Given the description of an element on the screen output the (x, y) to click on. 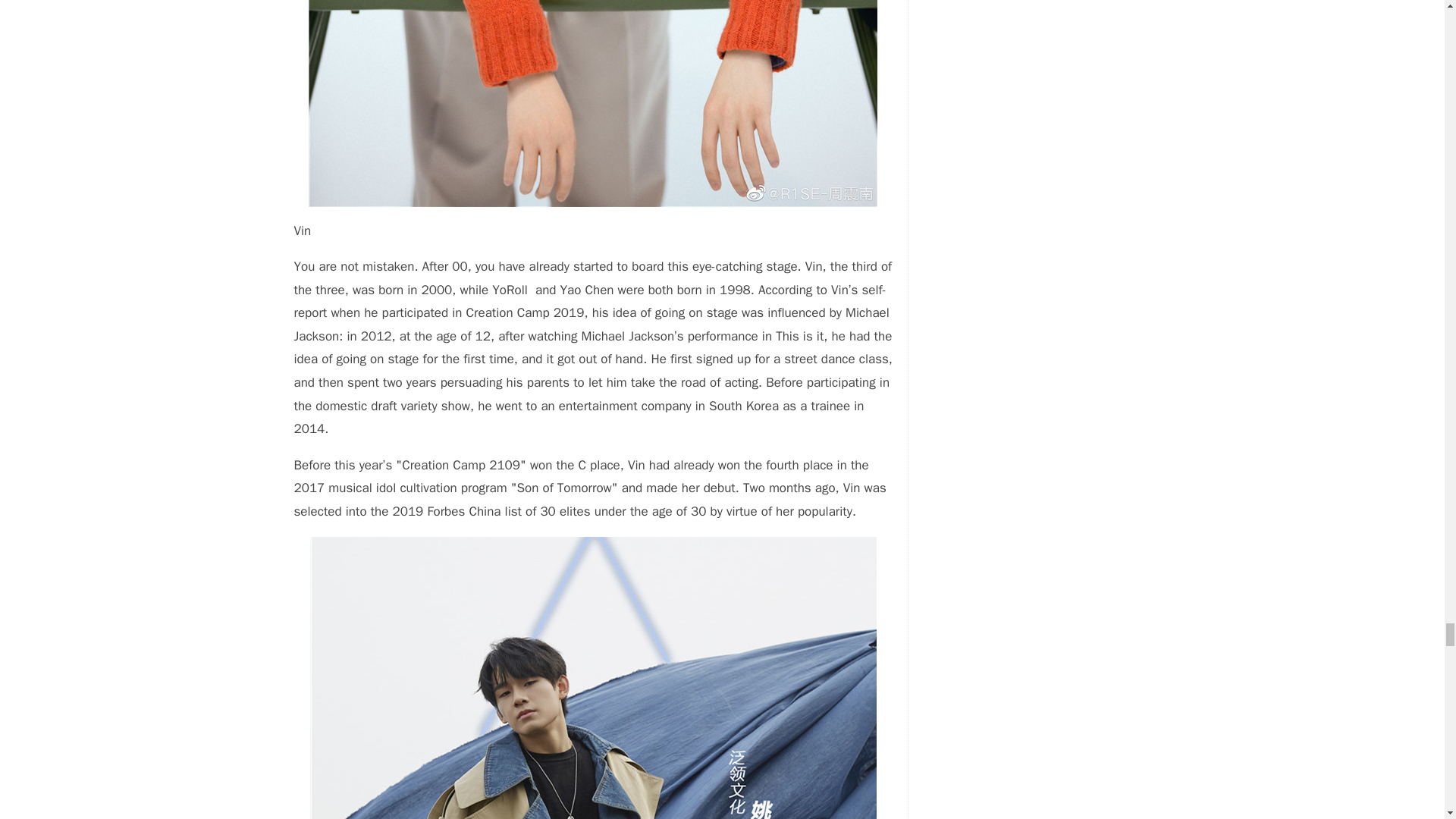
6ee025457349c1a013735a7b2d8ddde0.jpg (592, 103)
